Given the description of an element on the screen output the (x, y) to click on. 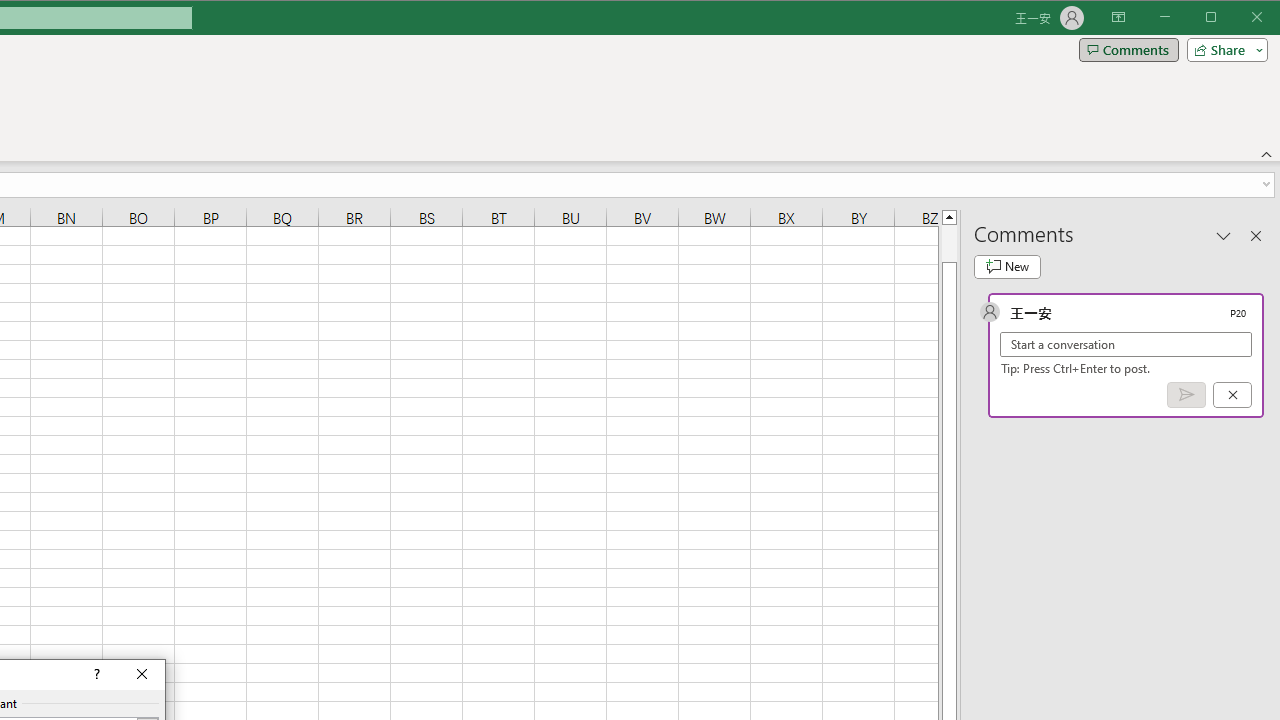
Cancel (1232, 395)
New comment (1007, 266)
Maximize (1239, 18)
Page up (948, 243)
Context help (95, 674)
Post comment (Ctrl + Enter) (1186, 395)
Close pane (1256, 235)
Start a conversation (1126, 344)
